Given the description of an element on the screen output the (x, y) to click on. 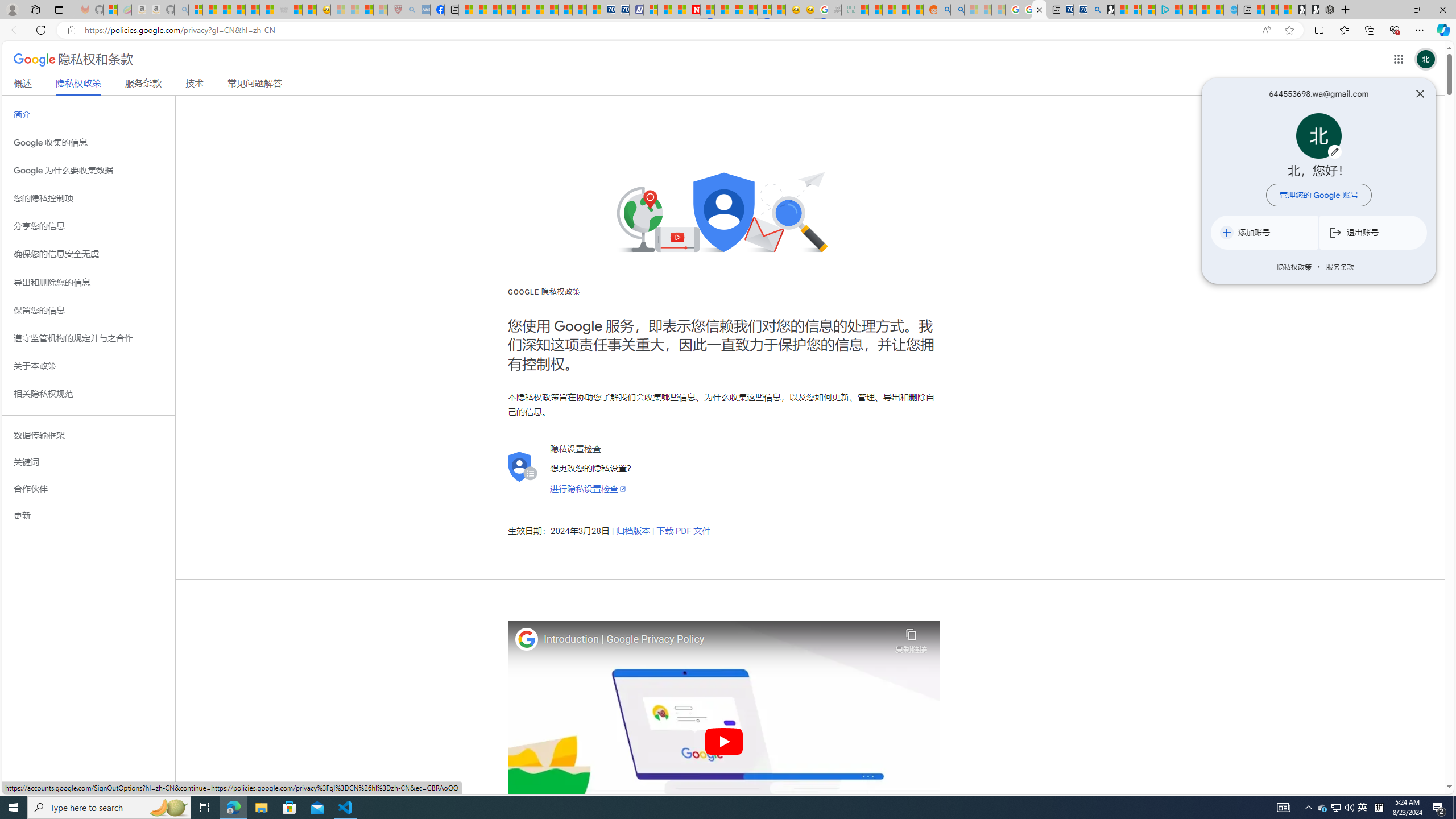
Class: Q3ao0c (1317, 135)
